Given the description of an element on the screen output the (x, y) to click on. 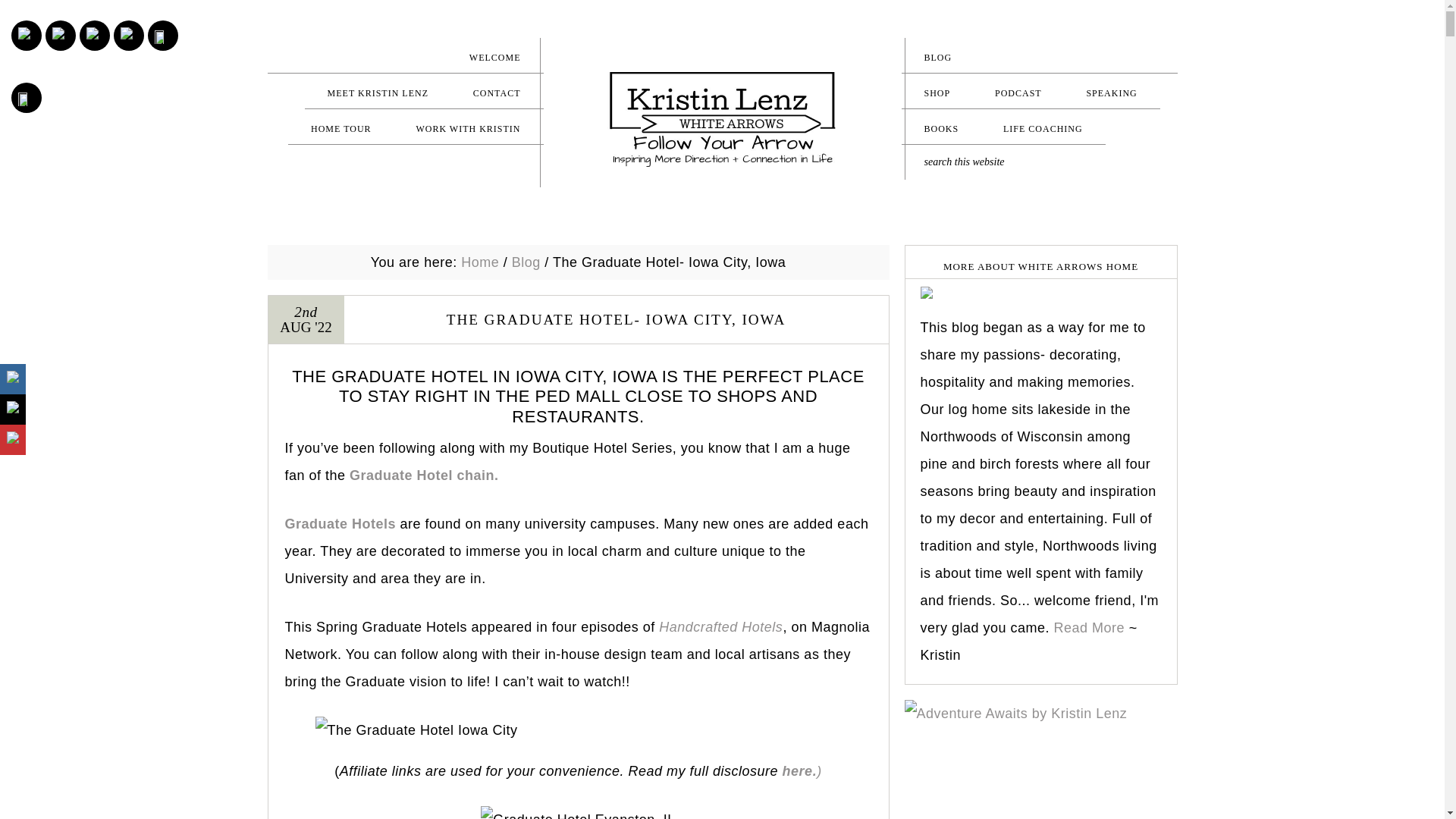
BOOKS (941, 128)
Home (480, 262)
MEET KRISTIN LENZ (377, 93)
WORK WITH KRISTIN (468, 128)
Graduate Hote (334, 523)
SHOP (936, 93)
Facebook (94, 35)
SPEAKING (1110, 93)
Pinterest (60, 35)
